Given the description of an element on the screen output the (x, y) to click on. 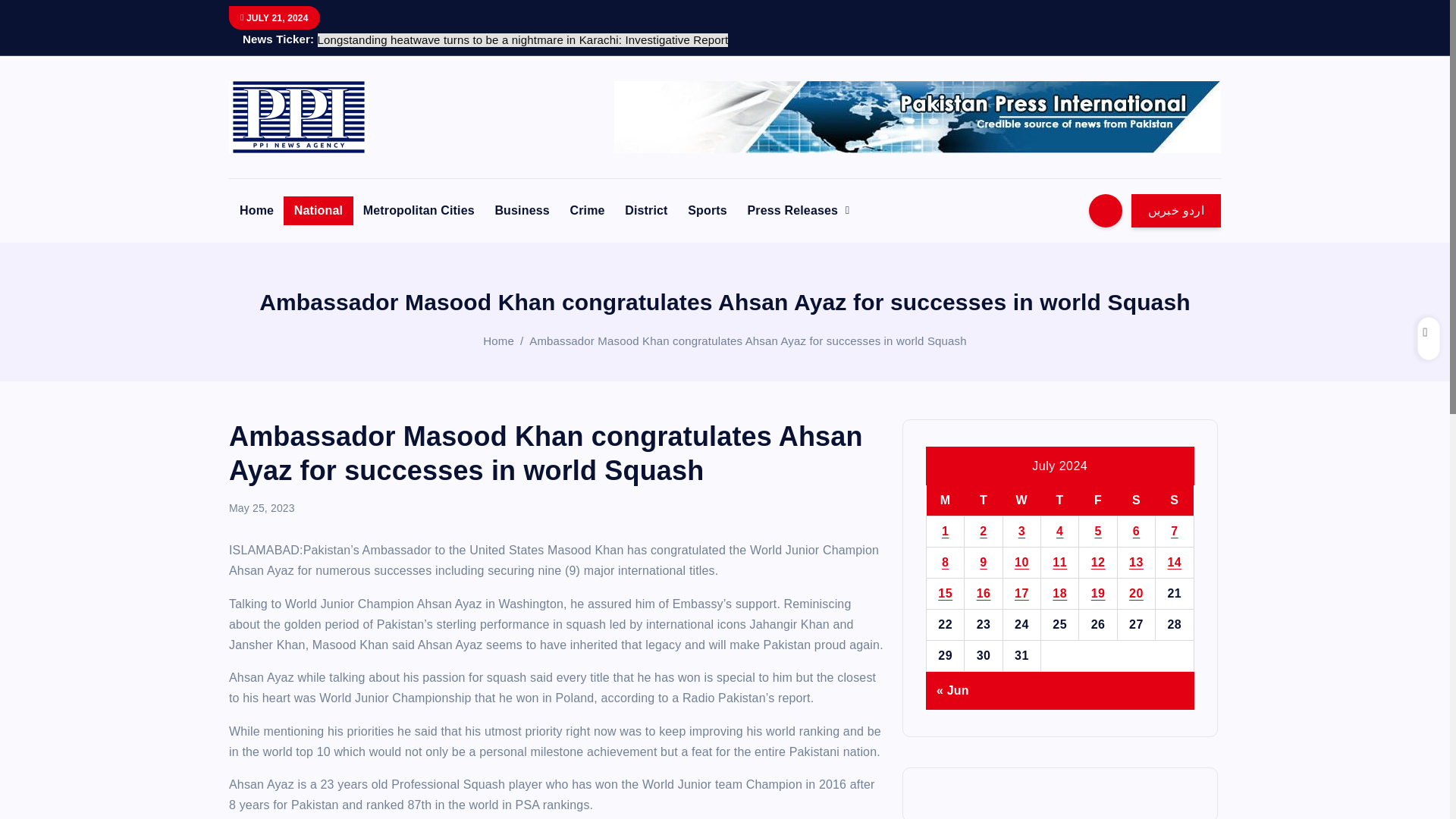
District (646, 209)
Crime (586, 209)
Home (255, 209)
Press Releases (798, 209)
District (646, 209)
National (318, 209)
Sports (707, 209)
Press Releases (798, 209)
Sports (707, 209)
Business (521, 209)
Business (521, 209)
Metropolitan Cities (418, 209)
Metropolitan Cities (418, 209)
National (318, 209)
